Given the description of an element on the screen output the (x, y) to click on. 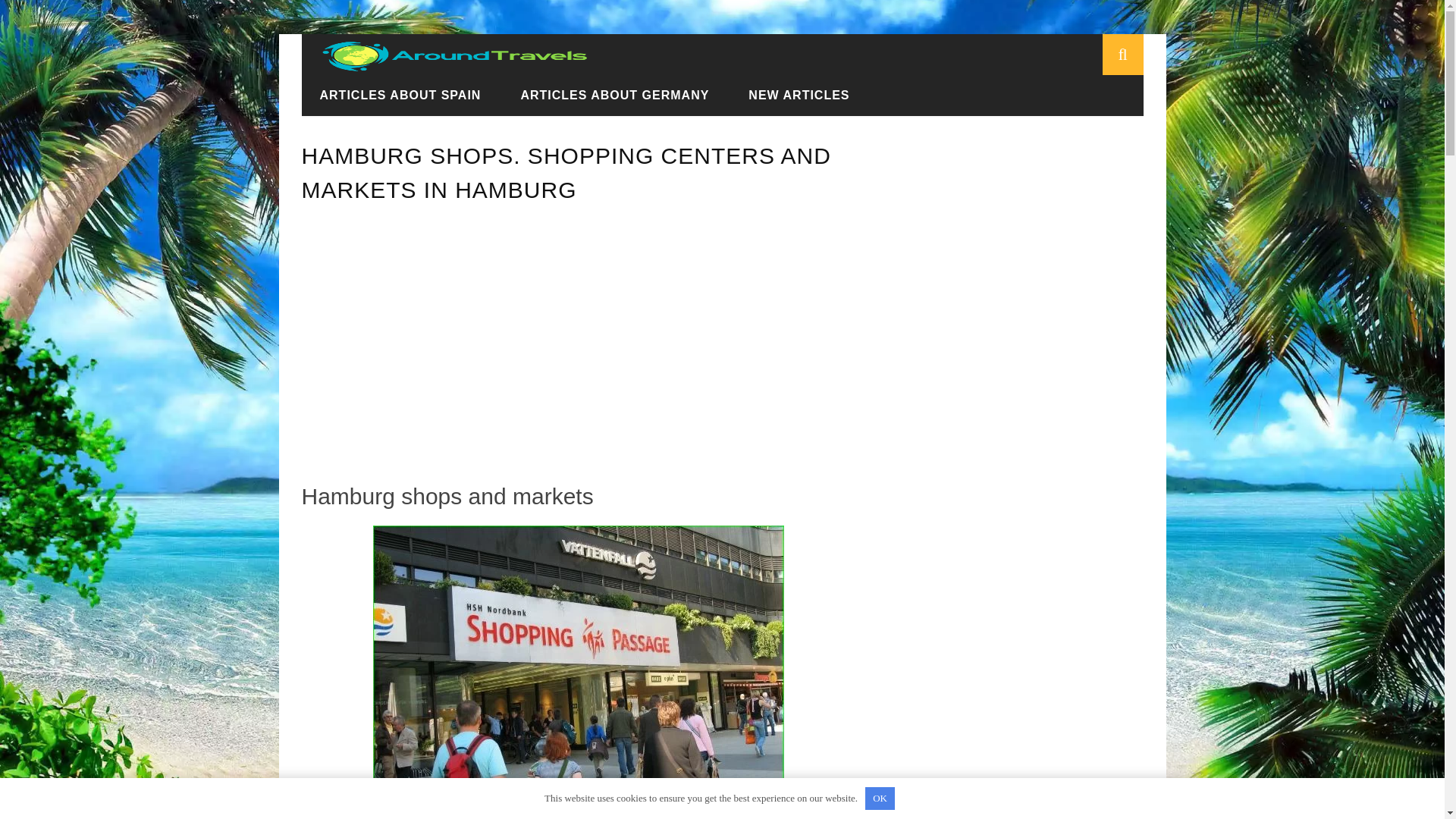
Articles about Hamburg (601, 95)
ARTICLES ABOUT SPAIN (400, 94)
Advertisement (576, 338)
Home (343, 95)
NEW ARTICLES (798, 94)
photo: Shops and markets in Hamburg (578, 672)
ARTICLES ABOUT GERMANY (614, 94)
Articles about Germany (448, 95)
